Given the description of an element on the screen output the (x, y) to click on. 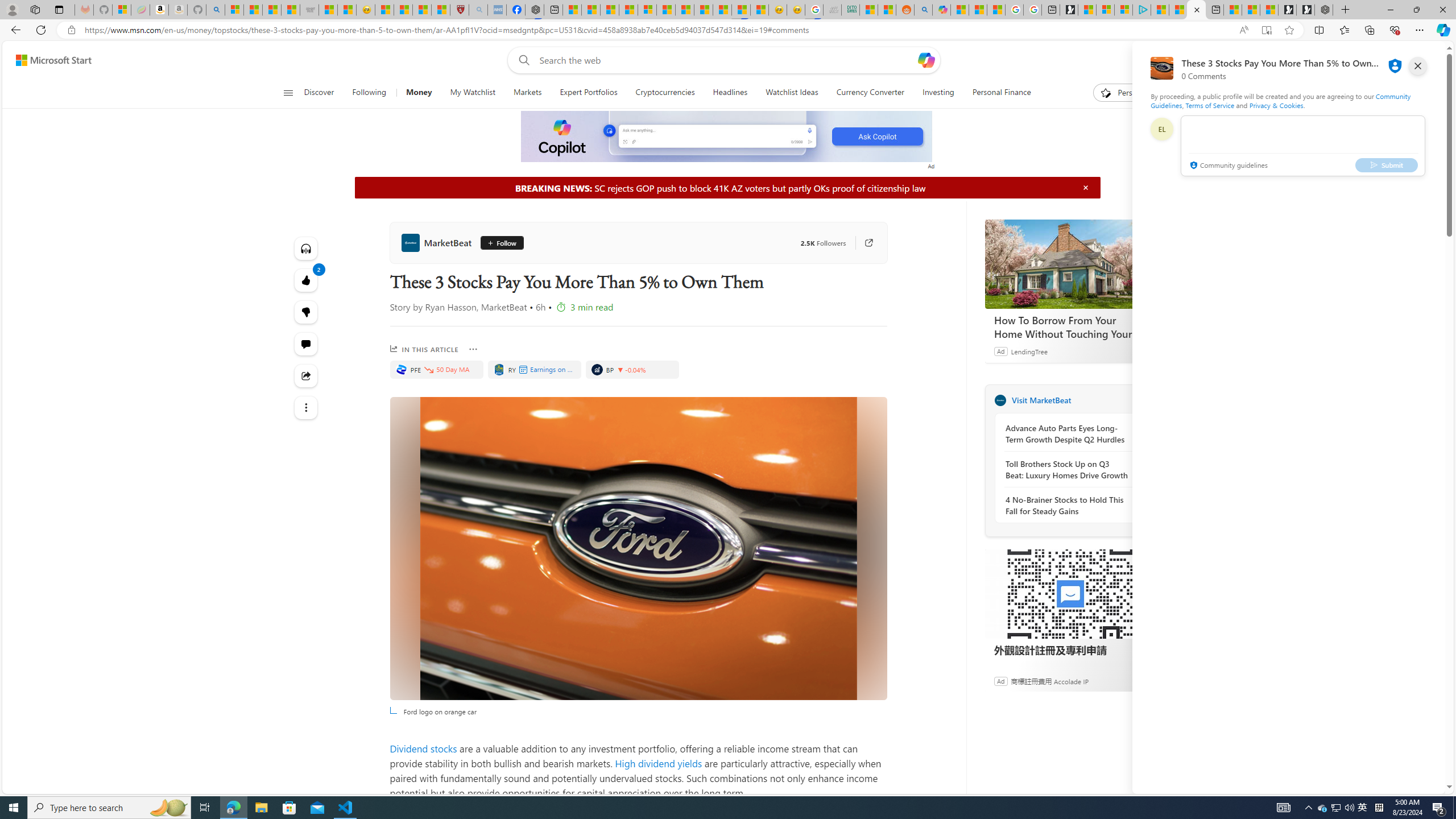
DITOGAMES AG Imprint (850, 9)
Skip to footer (46, 59)
These 3 Stocks Pay You More Than 5% to Own Them (1195, 9)
PFIZER INC. (400, 369)
My Watchlist (472, 92)
Currency Converter (869, 92)
Science - MSN (421, 9)
Personalize (1128, 92)
